Given the description of an element on the screen output the (x, y) to click on. 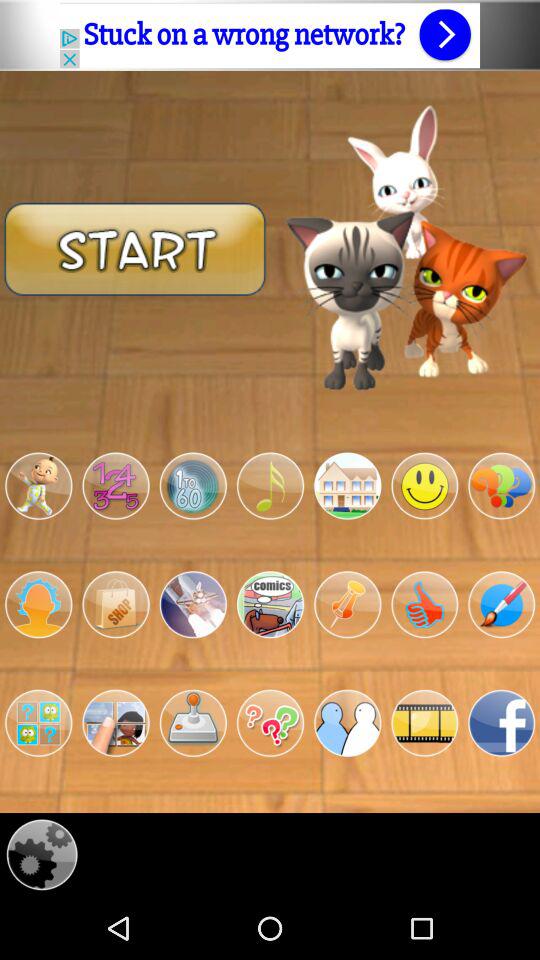
play music (270, 485)
